Given the description of an element on the screen output the (x, y) to click on. 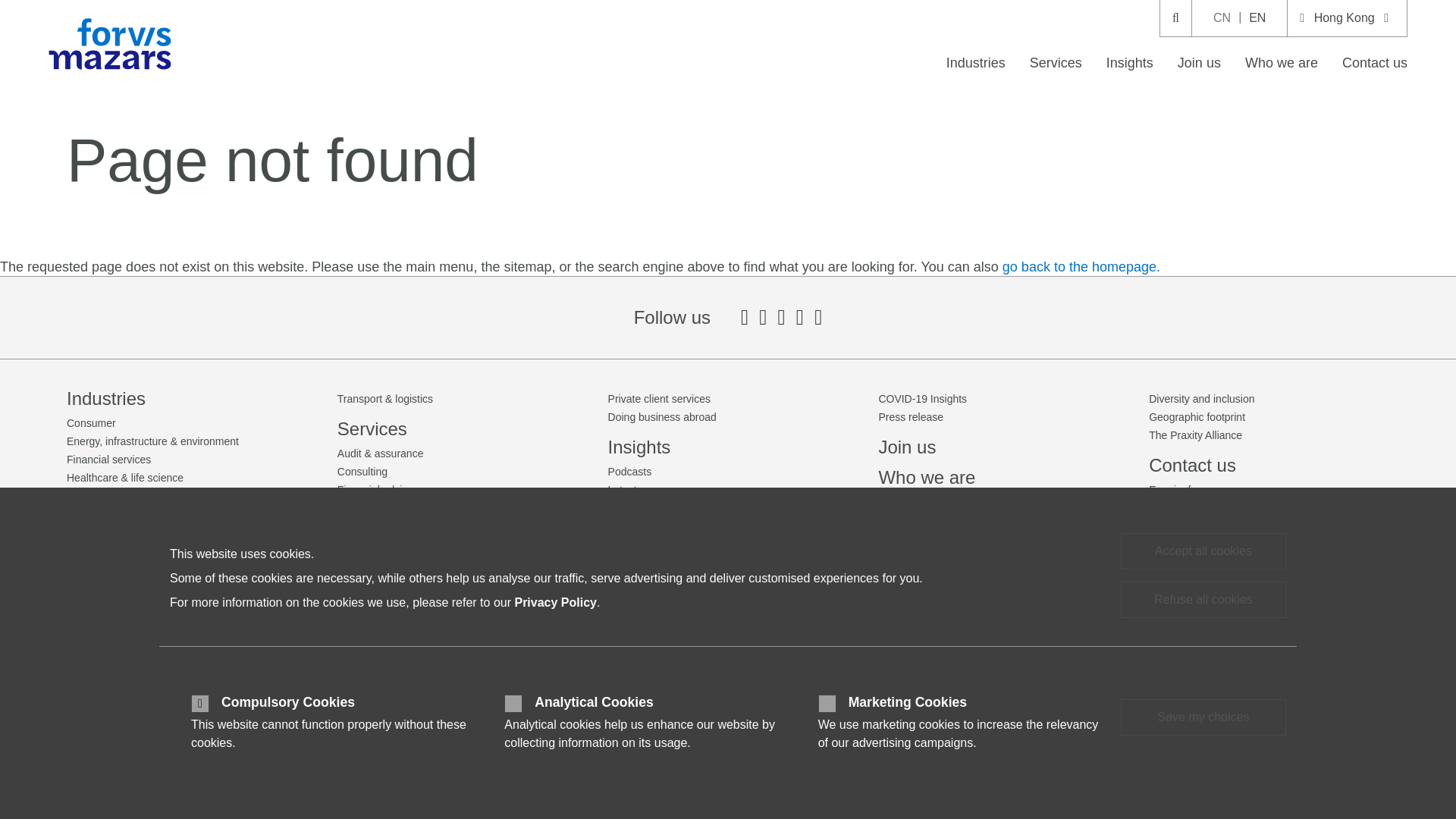
CN (1222, 17)
Hong Kong (1346, 18)
